Given the description of an element on the screen output the (x, y) to click on. 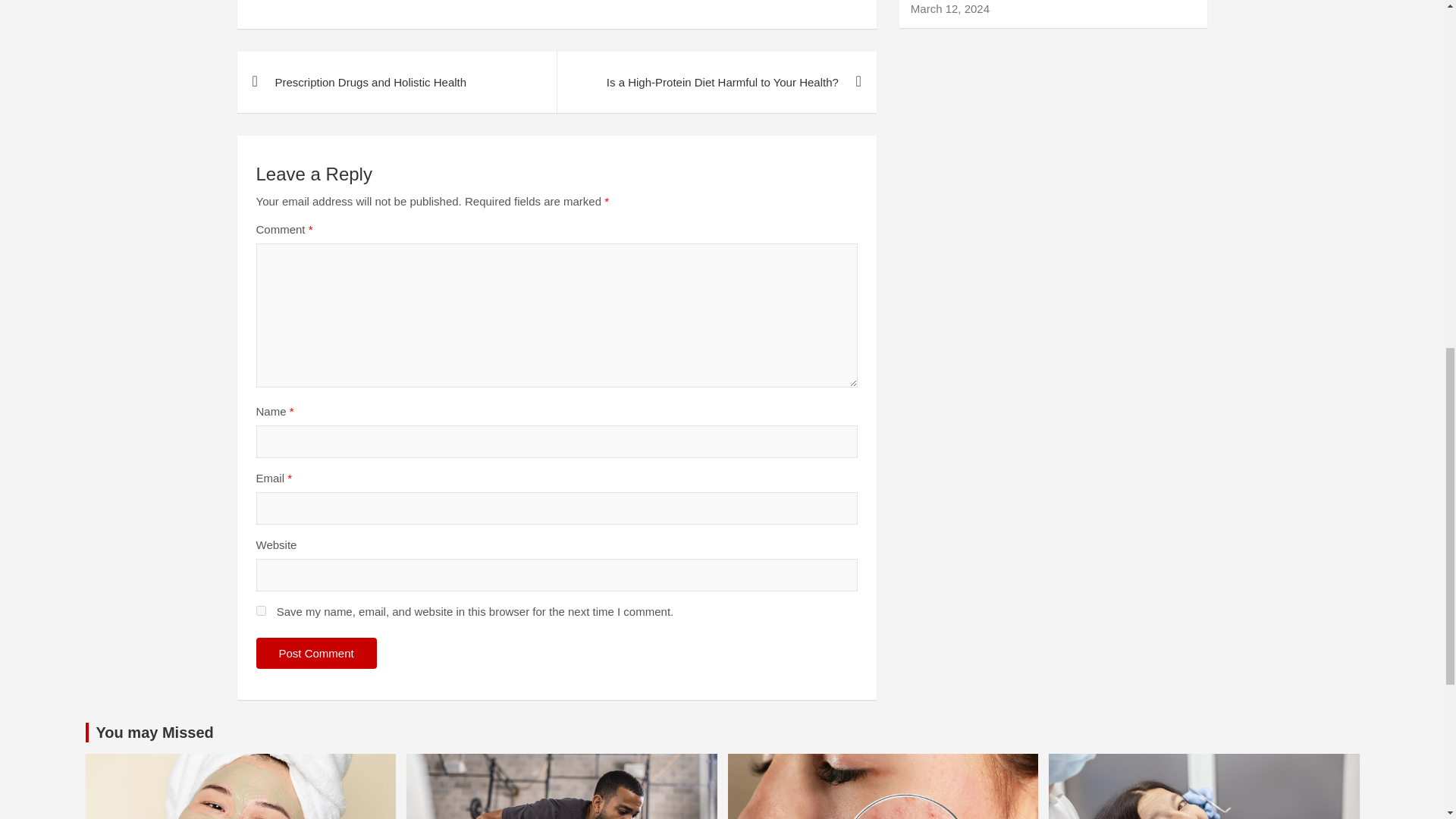
yes (261, 610)
Prescription Drugs and Holistic Health (395, 82)
Post Comment (316, 653)
Is a High-Protein Diet Harmful to Your Health? (716, 82)
Post Comment (316, 653)
